Given the description of an element on the screen output the (x, y) to click on. 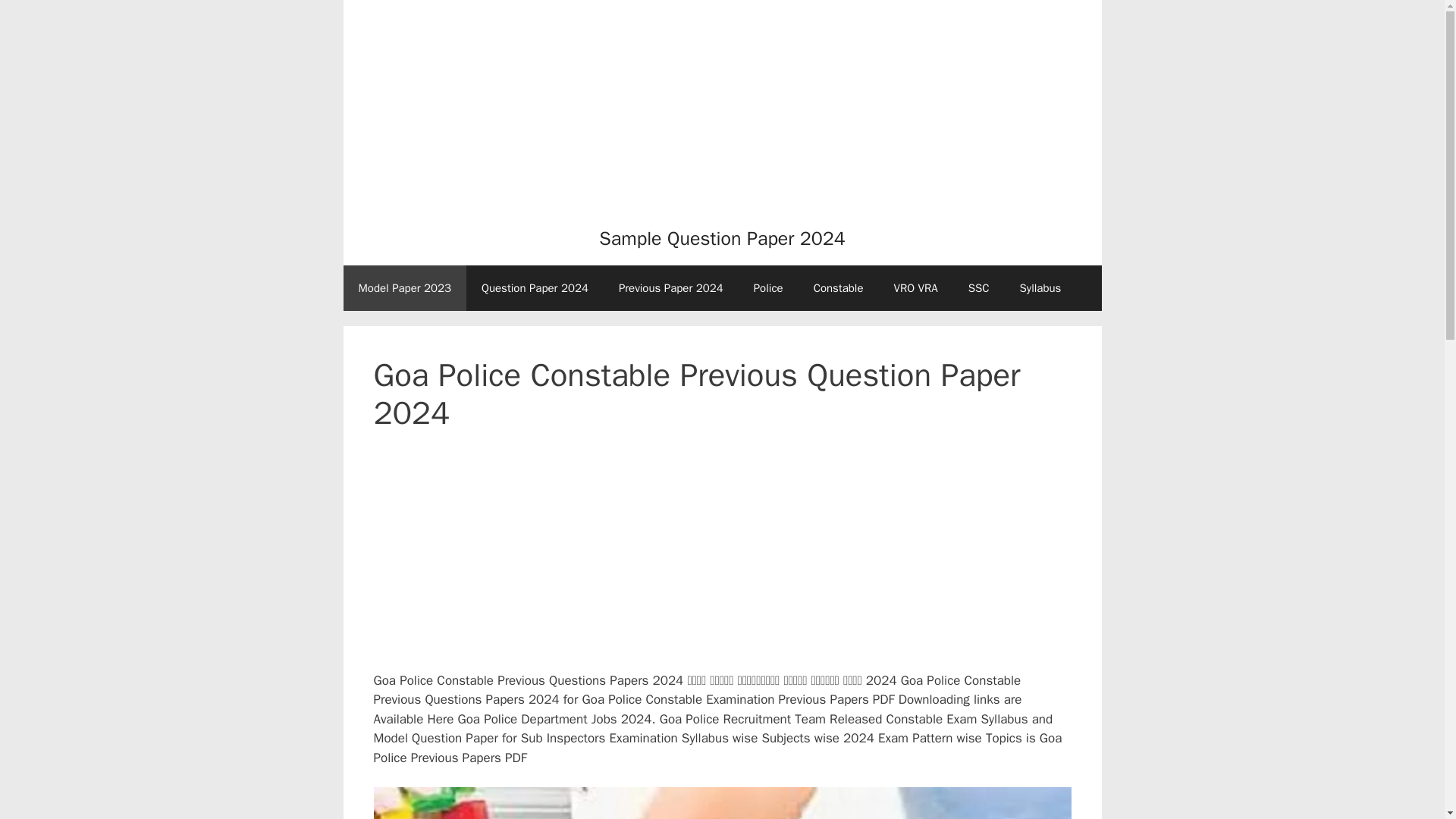
Sample Question Paper 2024 (721, 238)
Syllabus (1040, 288)
Previous Paper 2024 (671, 288)
Constable (838, 288)
Question Paper 2024 (534, 288)
Police (767, 288)
SSC (978, 288)
VRO VRA (916, 288)
Model Paper 2023 (403, 288)
